Given the description of an element on the screen output the (x, y) to click on. 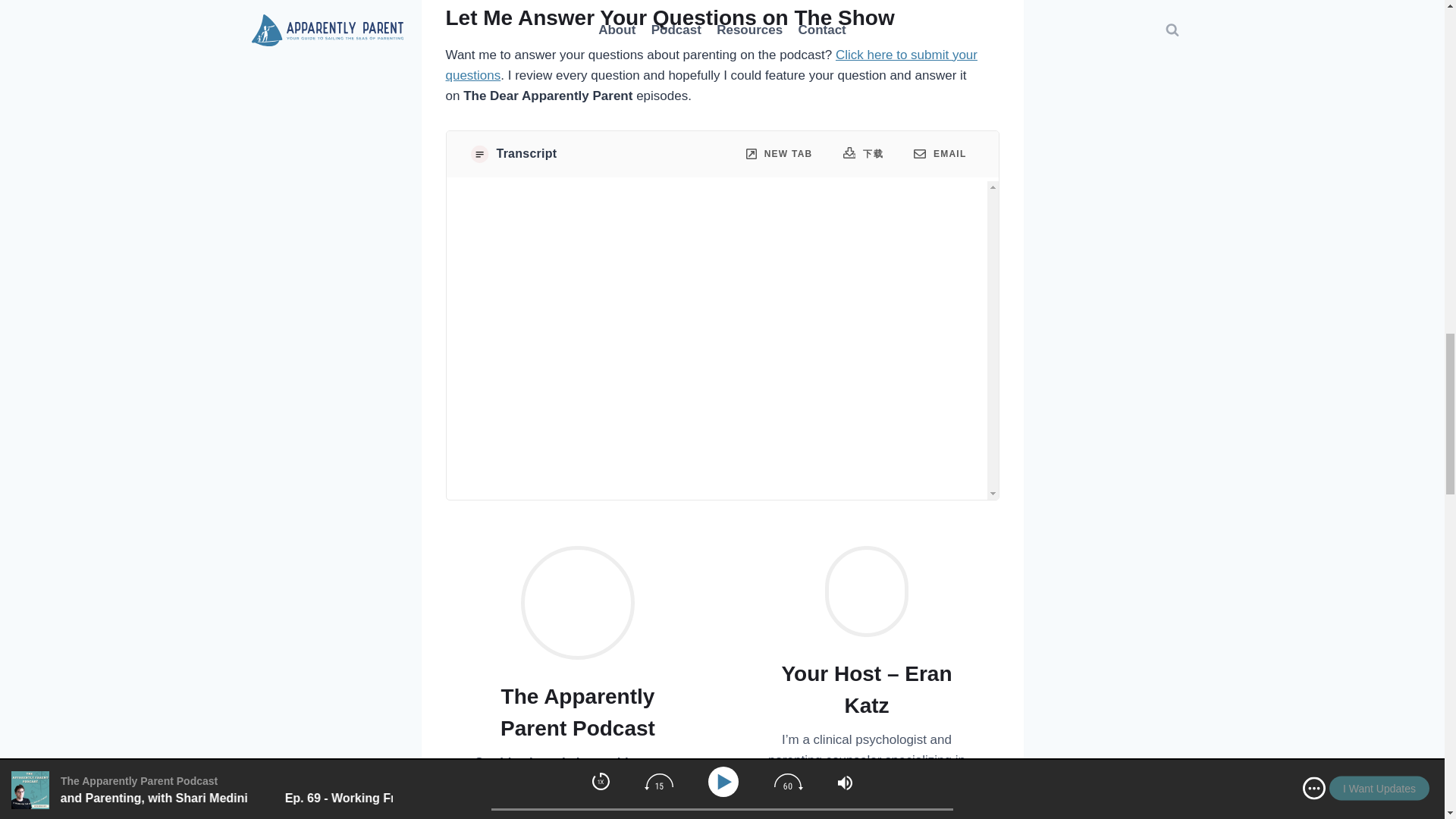
EMAIL (939, 153)
NEW TAB (779, 154)
Click here to submit your questions (711, 63)
